Given the description of an element on the screen output the (x, y) to click on. 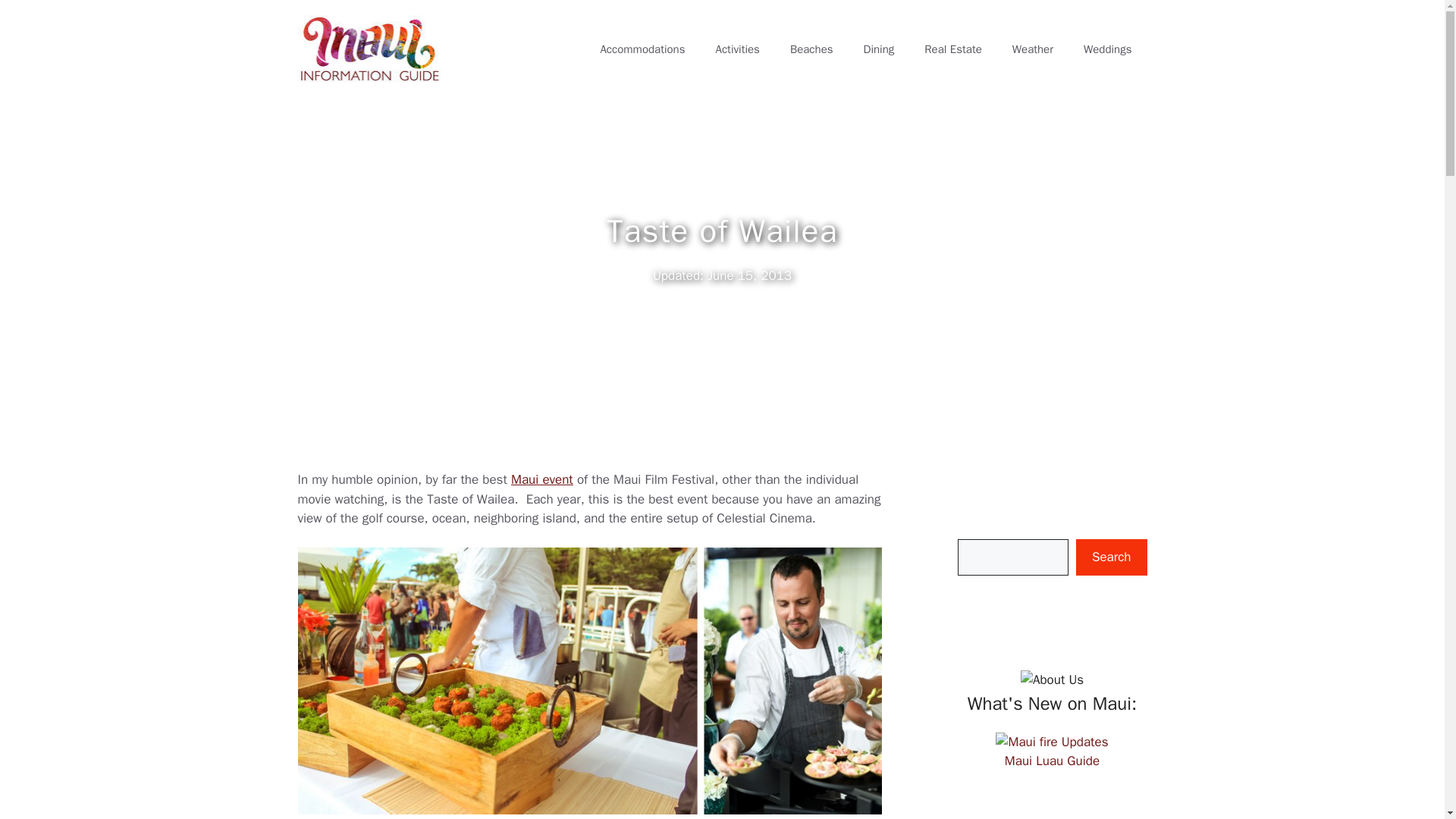
Maui event (542, 479)
Real Estate (951, 49)
Dining (879, 49)
Beaches (811, 49)
Search (1111, 556)
Maui Luau Guide (1051, 757)
Activities (737, 49)
Weather (1032, 49)
Weddings (1107, 49)
Maui Event (542, 479)
